Given the description of an element on the screen output the (x, y) to click on. 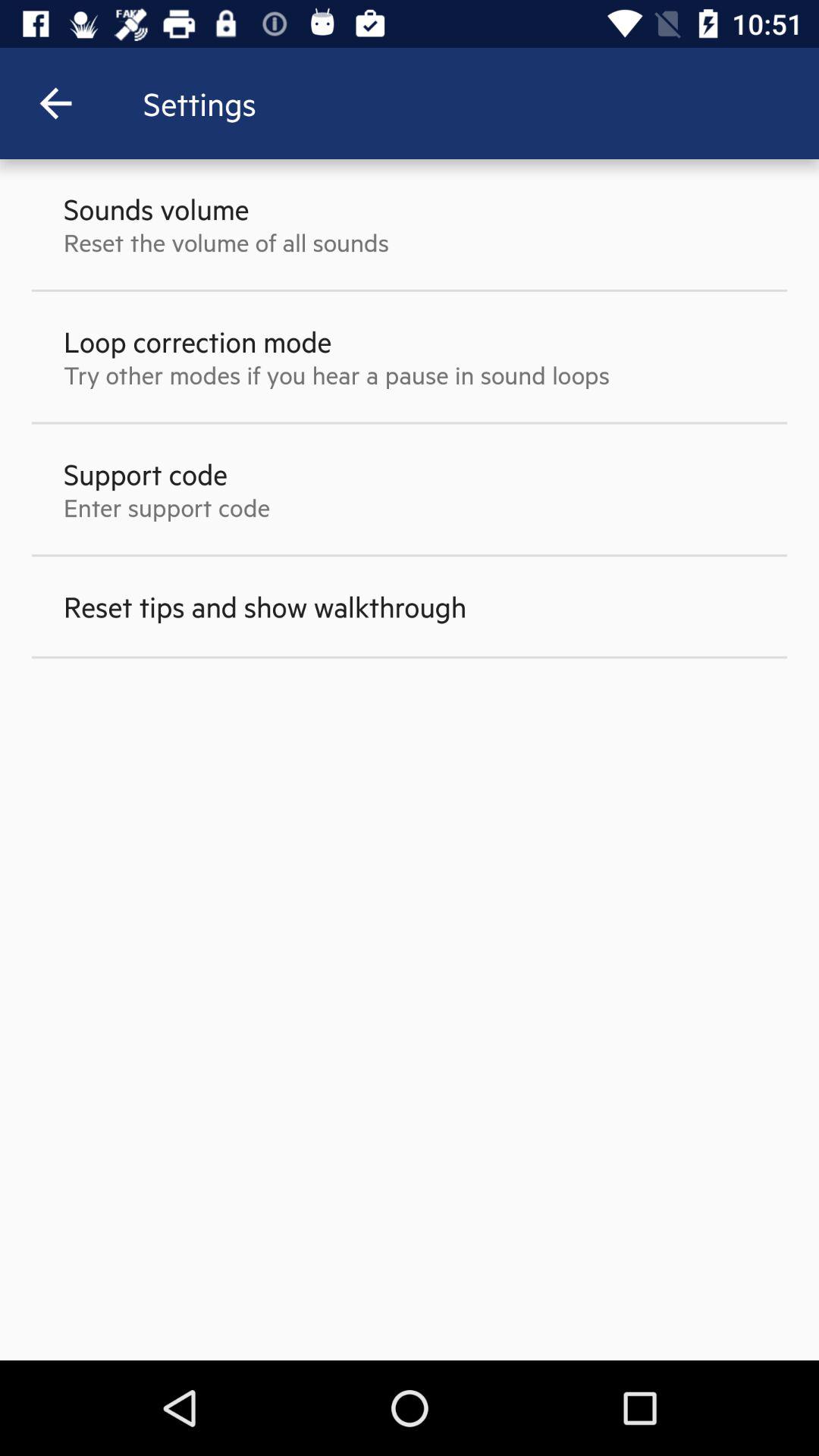
open the try other modes (336, 374)
